Given the description of an element on the screen output the (x, y) to click on. 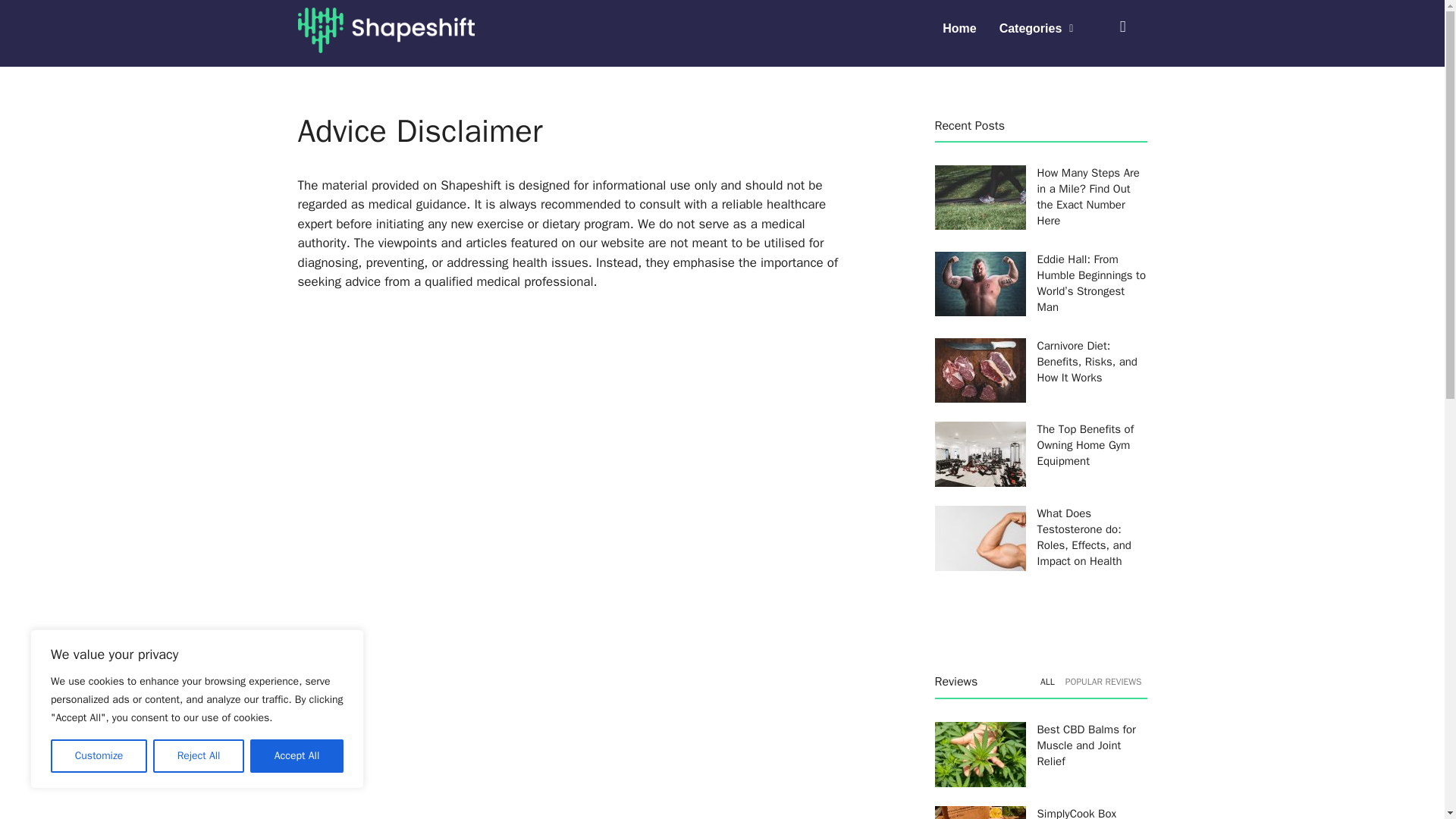
Carnivore Diet: Benefits, Risks, and How It Works (1086, 361)
How Many Steps Are in a Mile? Find Out the Exact Number Here (1088, 196)
Categories (1036, 28)
Accept All (296, 756)
Reject All (198, 756)
Customize (98, 756)
Home (959, 28)
The Top Benefits of Owning Home Gym Equipment (1085, 444)
